Given the description of an element on the screen output the (x, y) to click on. 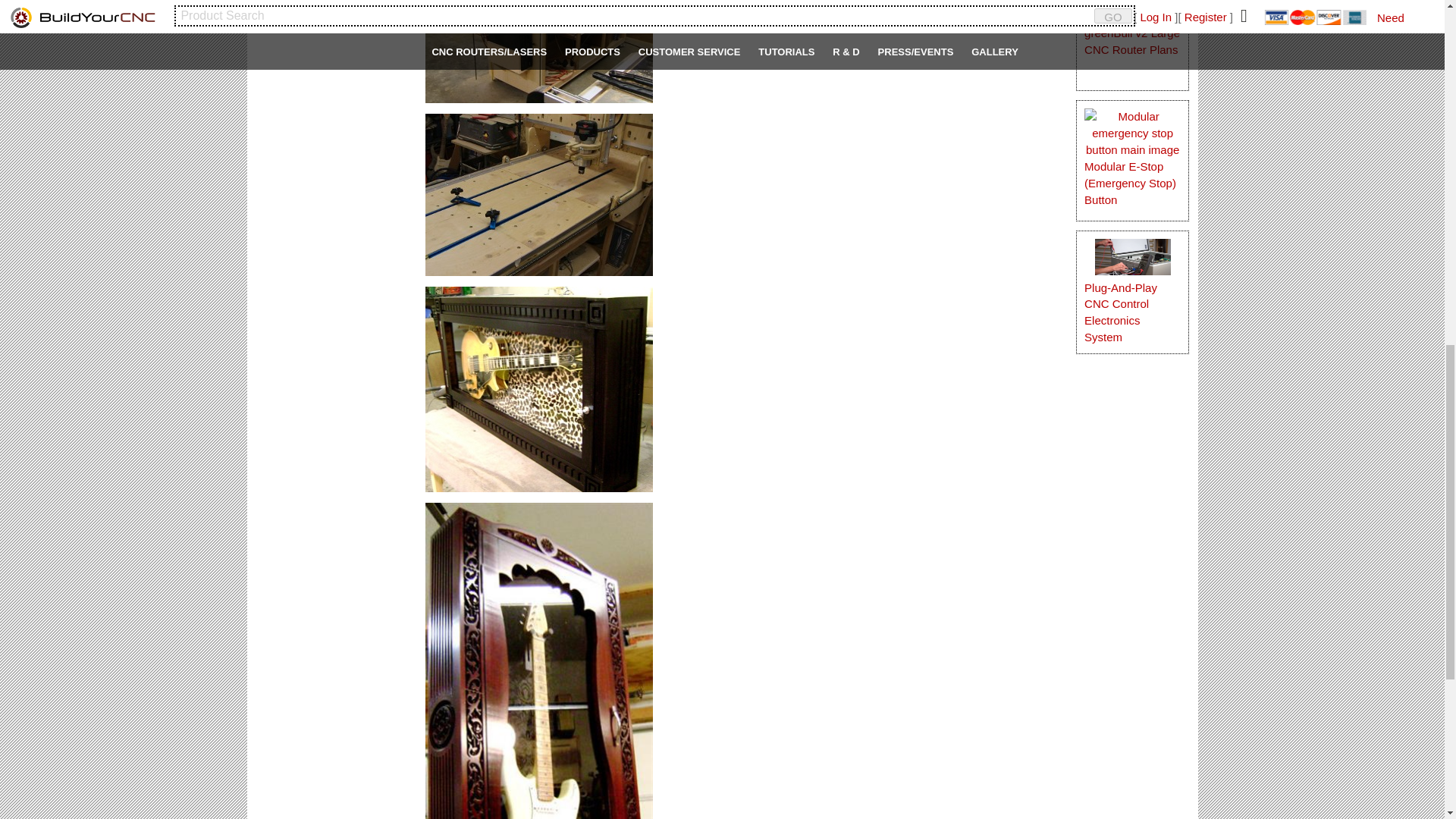
Pneumatic Hydraulic (324, 70)
